Given the description of an element on the screen output the (x, y) to click on. 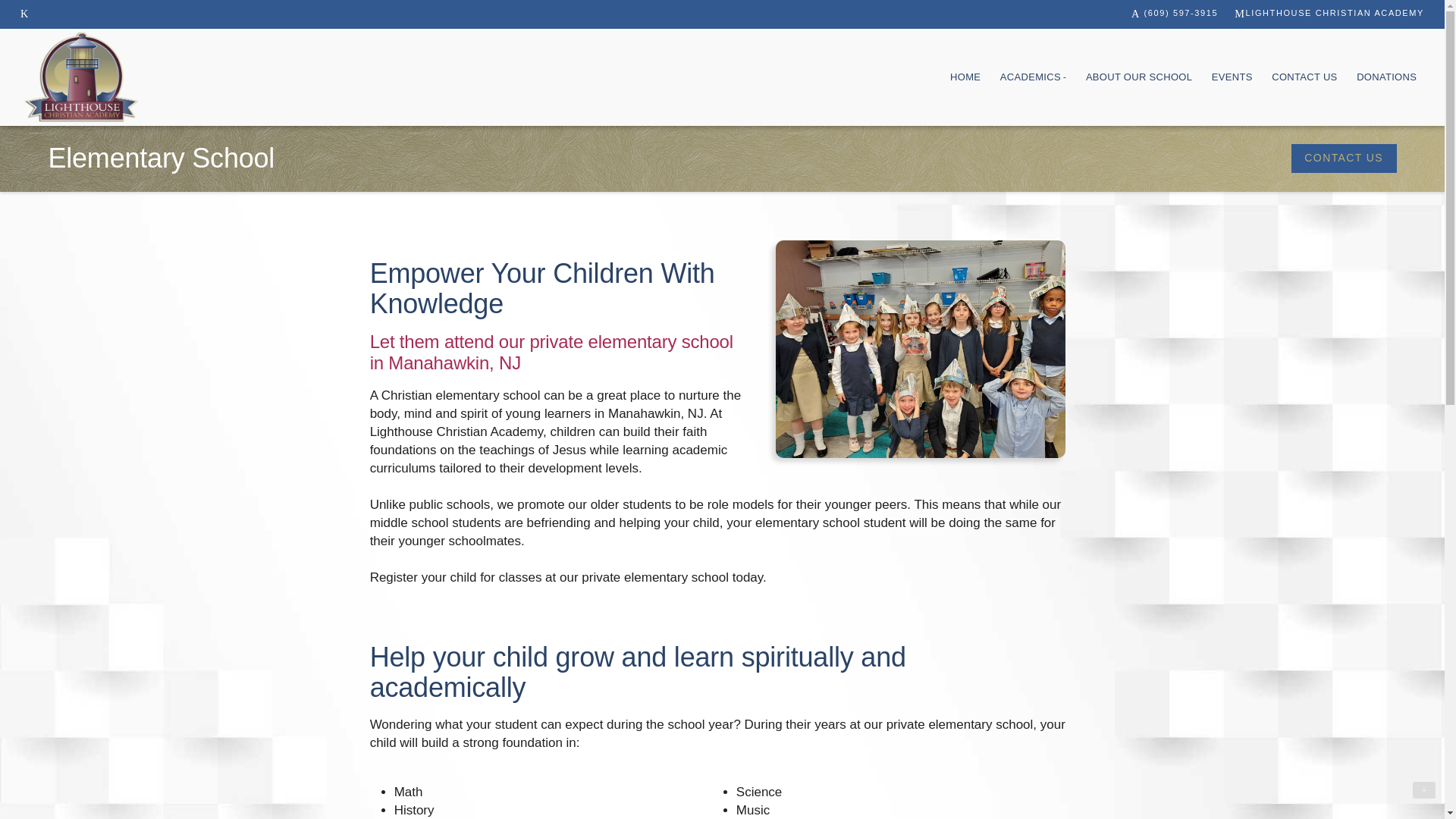
ABOUT OUR SCHOOL (1139, 77)
Facebook (23, 13)
LIGHTHOUSE CHRISTIAN ACADEMY (1328, 13)
HOME (965, 77)
ACADEMICS (1032, 77)
DONATIONS (1386, 77)
EVENTS (1232, 77)
CONTACT US (1303, 77)
Lighthouse Christian Academy (82, 77)
